Given the description of an element on the screen output the (x, y) to click on. 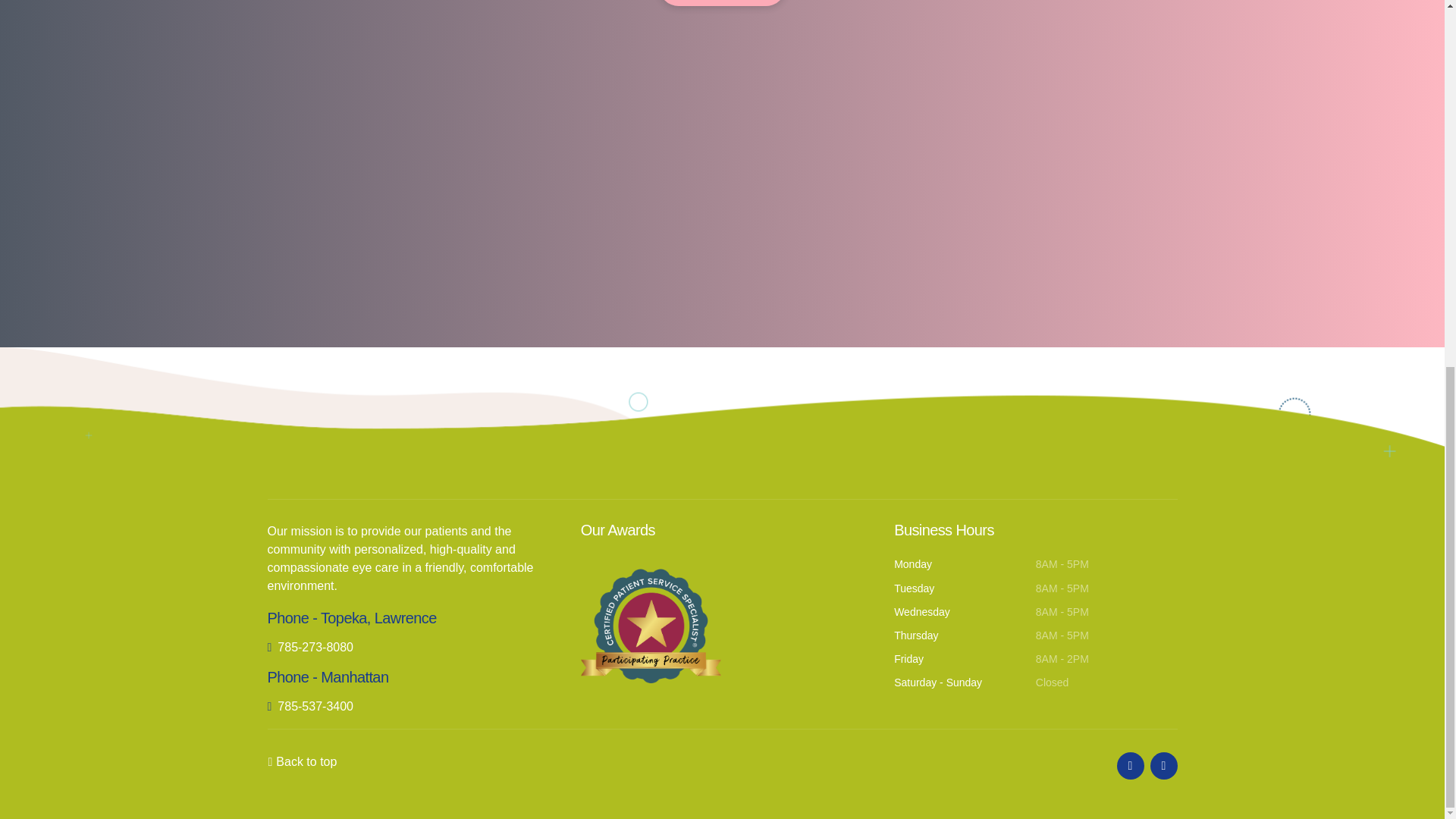
785-273-8080 (309, 647)
Back to homepage (722, 2)
CPSS-Practice-Badge (650, 621)
785-537-3400 (309, 706)
785-273-8080 (309, 647)
785-537-3400 (309, 706)
Back to top (306, 761)
